Given the description of an element on the screen output the (x, y) to click on. 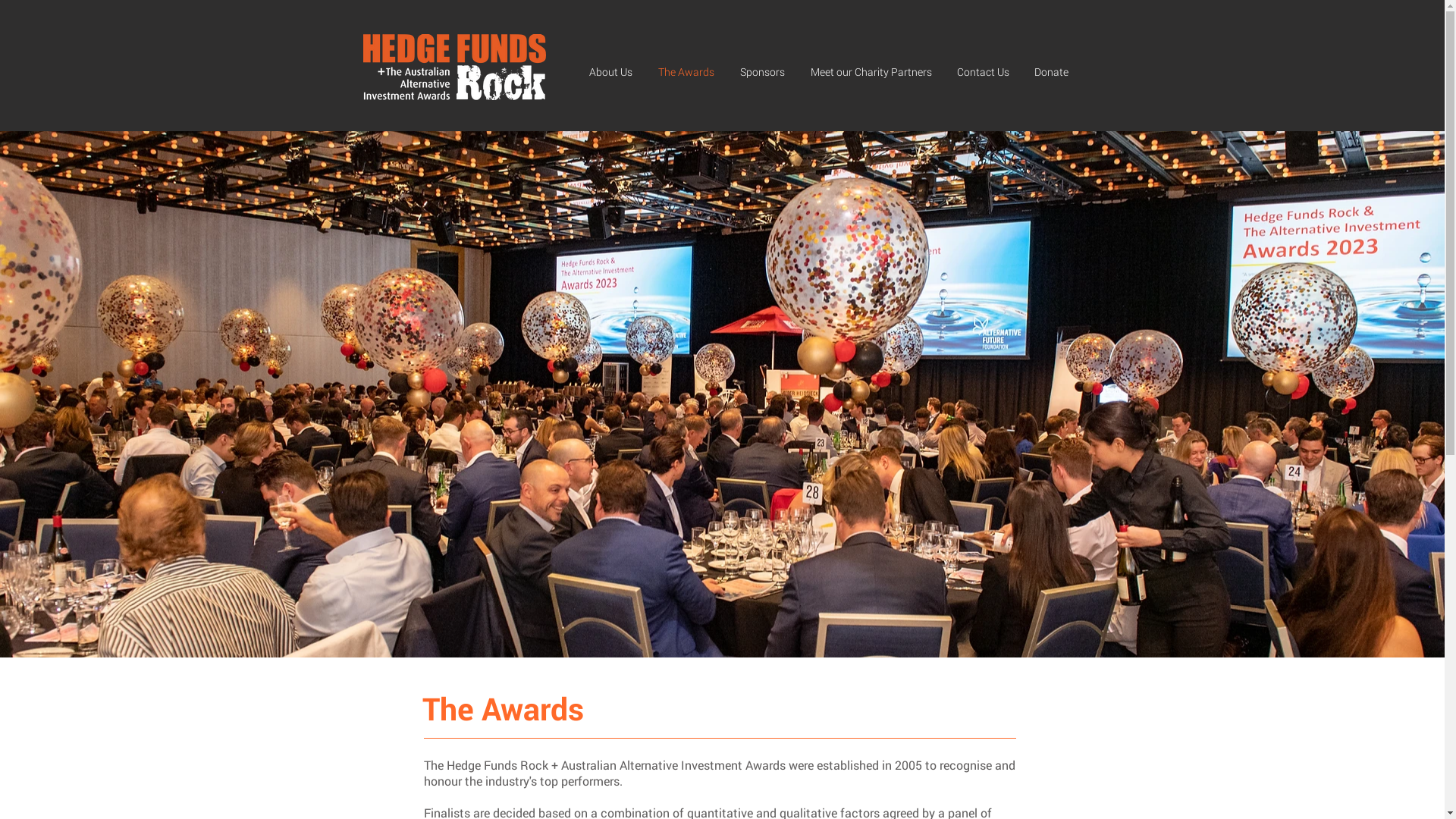
About Us Element type: text (614, 71)
The Awards Element type: text (691, 71)
Meet our Charity Partners Element type: text (875, 71)
Sponsors Element type: text (767, 71)
Contact Us Element type: text (987, 71)
Donate Element type: text (1055, 71)
